Given the description of an element on the screen output the (x, y) to click on. 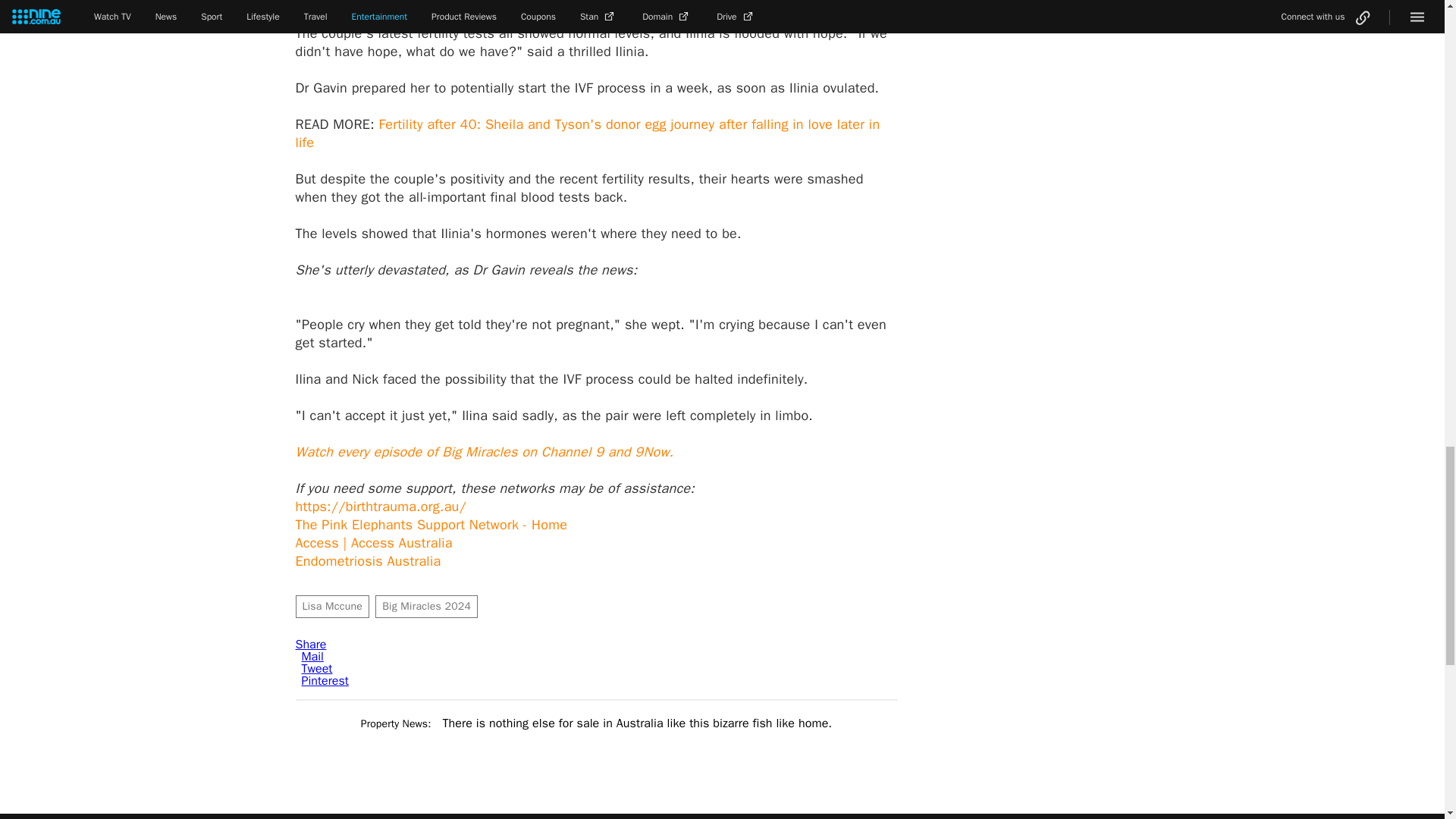
Mail (312, 656)
Pinterest (325, 680)
Watch every episode of Big Miracles on Channel 9 and 9Now. (484, 451)
Share (310, 644)
Big Miracles 2024 (426, 606)
Lisa Mccune (332, 606)
The Pink Elephants Support Network - Home (431, 524)
Endometriosis Australia (368, 560)
